Given the description of an element on the screen output the (x, y) to click on. 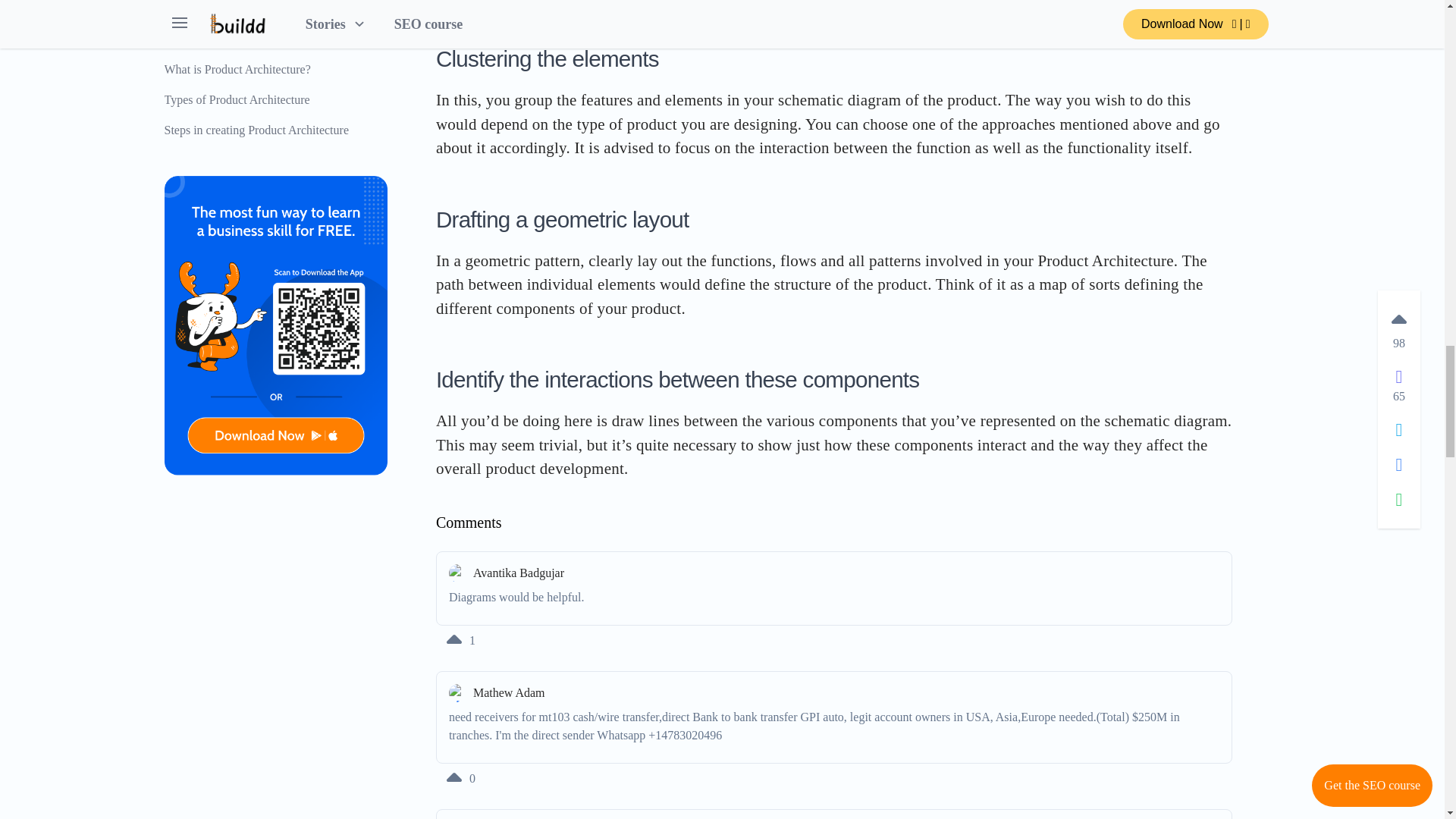
Avantika Badgujar (834, 573)
0 (459, 778)
1 (459, 640)
Mathew Adam (834, 692)
